Given the description of an element on the screen output the (x, y) to click on. 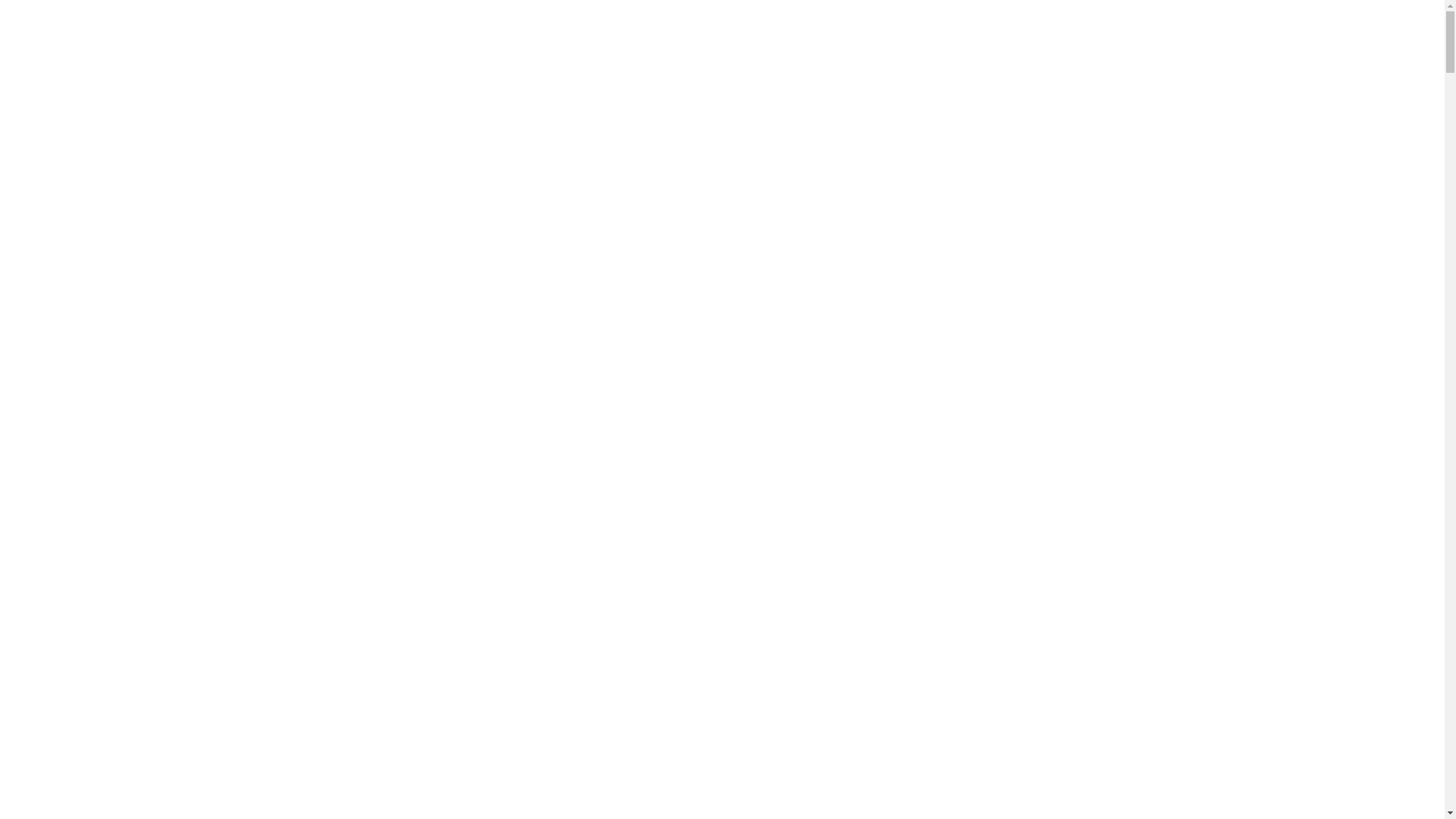
A Propos Element type: text (829, 26)
Contact Element type: text (1049, 26)
Services Element type: text (907, 26)
Appeler Element type: text (1126, 26)
Galerie Element type: text (979, 26)
AS COUTURE Element type: text (337, 26)
